Given the description of an element on the screen output the (x, y) to click on. 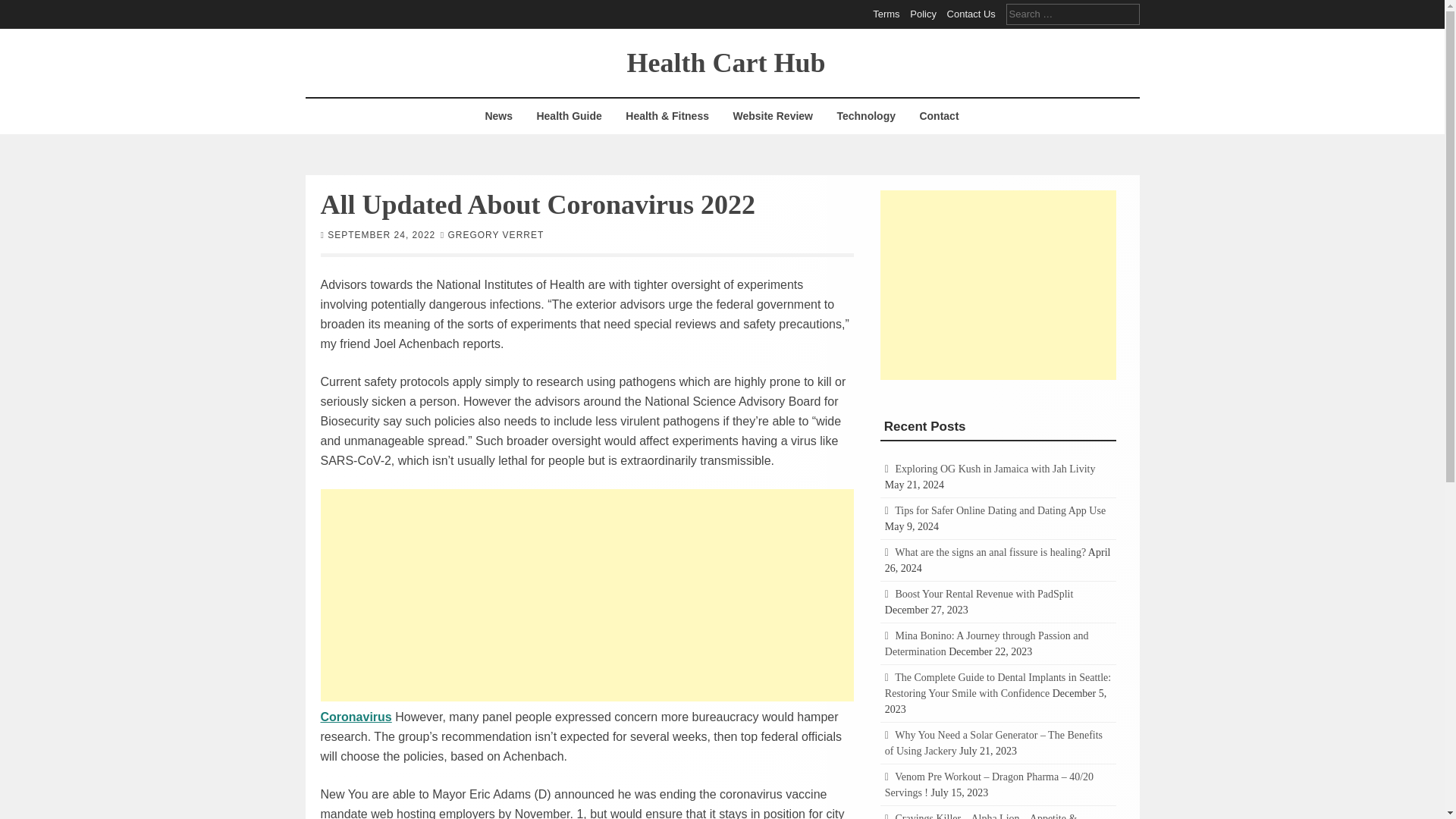
Policy (923, 13)
Website Review (772, 116)
Health Guide (568, 116)
Contact (938, 116)
GREGORY VERRET (494, 234)
Coronavirus (355, 716)
Search (23, 9)
Mina Bonino: A Journey through Passion and Determination (987, 643)
Technology (866, 116)
Advertisement (998, 284)
Tips for Safer Online Dating and Dating App Use (1000, 510)
Health Cart Hub (725, 61)
Boost Your Rental Revenue with PadSplit (984, 593)
Terms (885, 13)
